Given the description of an element on the screen output the (x, y) to click on. 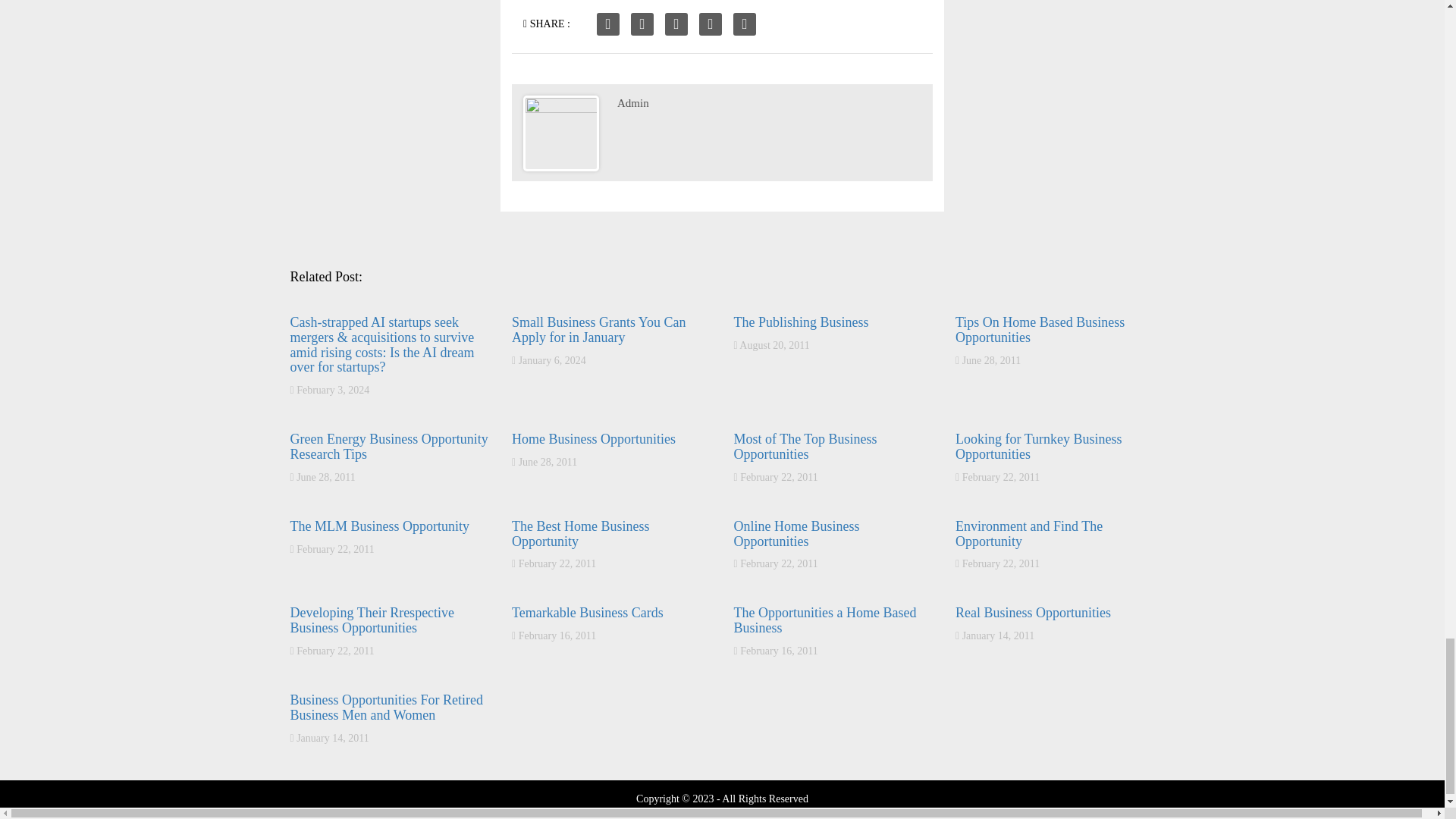
Posts by Admin (633, 102)
Share on Facebook (608, 24)
